Given the description of an element on the screen output the (x, y) to click on. 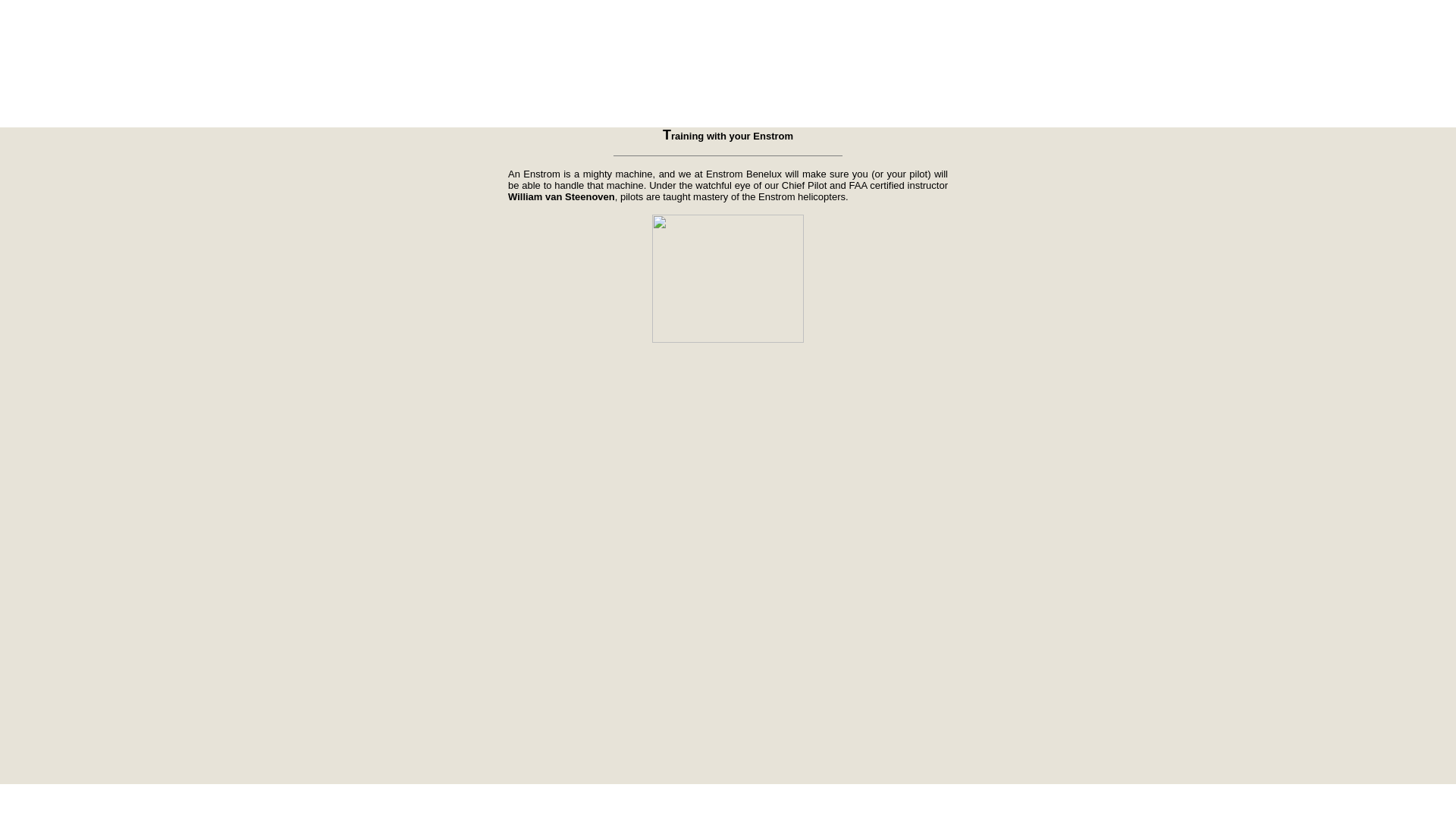
William van Steenoven (561, 196)
